Given the description of an element on the screen output the (x, y) to click on. 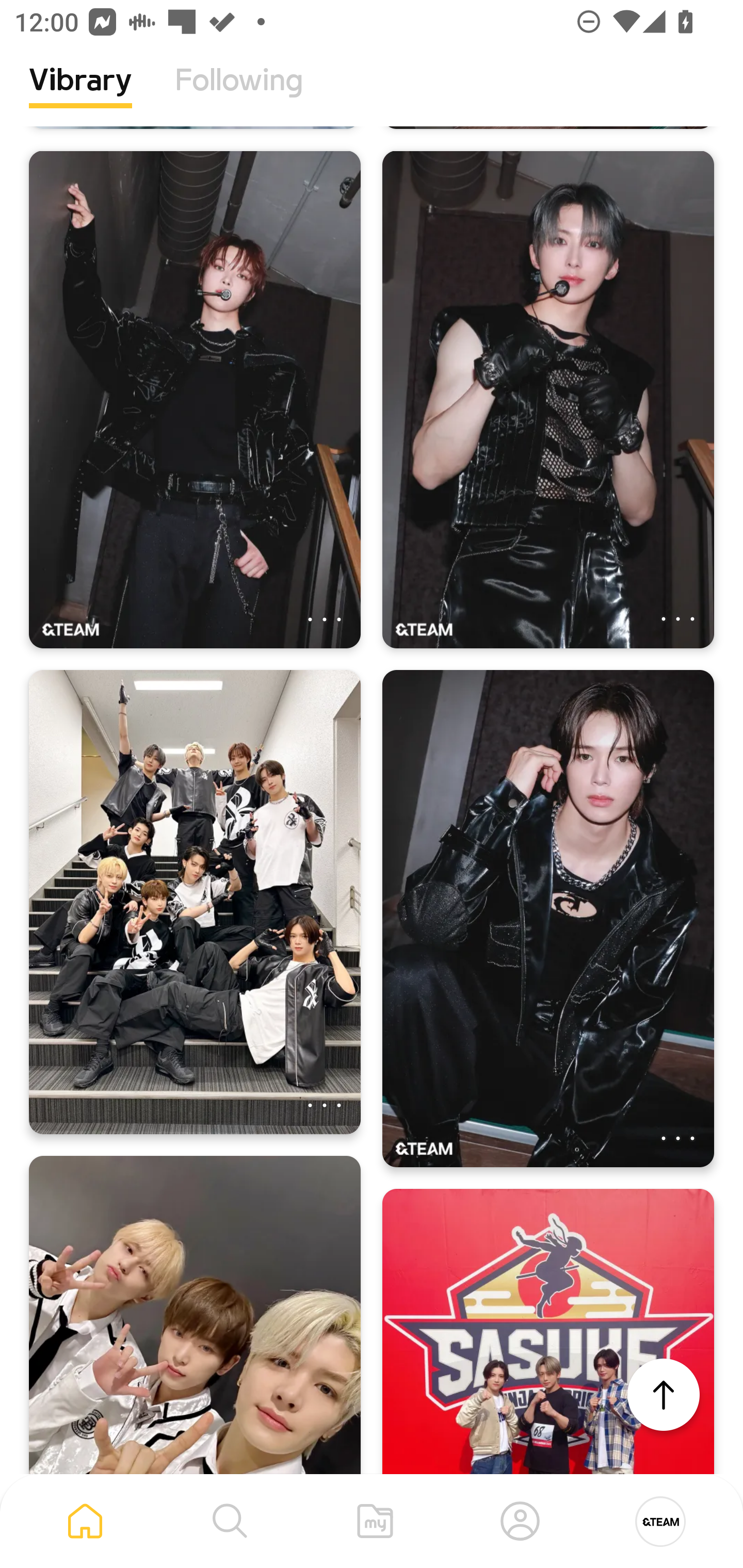
Vibrary (80, 95)
Following (239, 95)
